Given the description of an element on the screen output the (x, y) to click on. 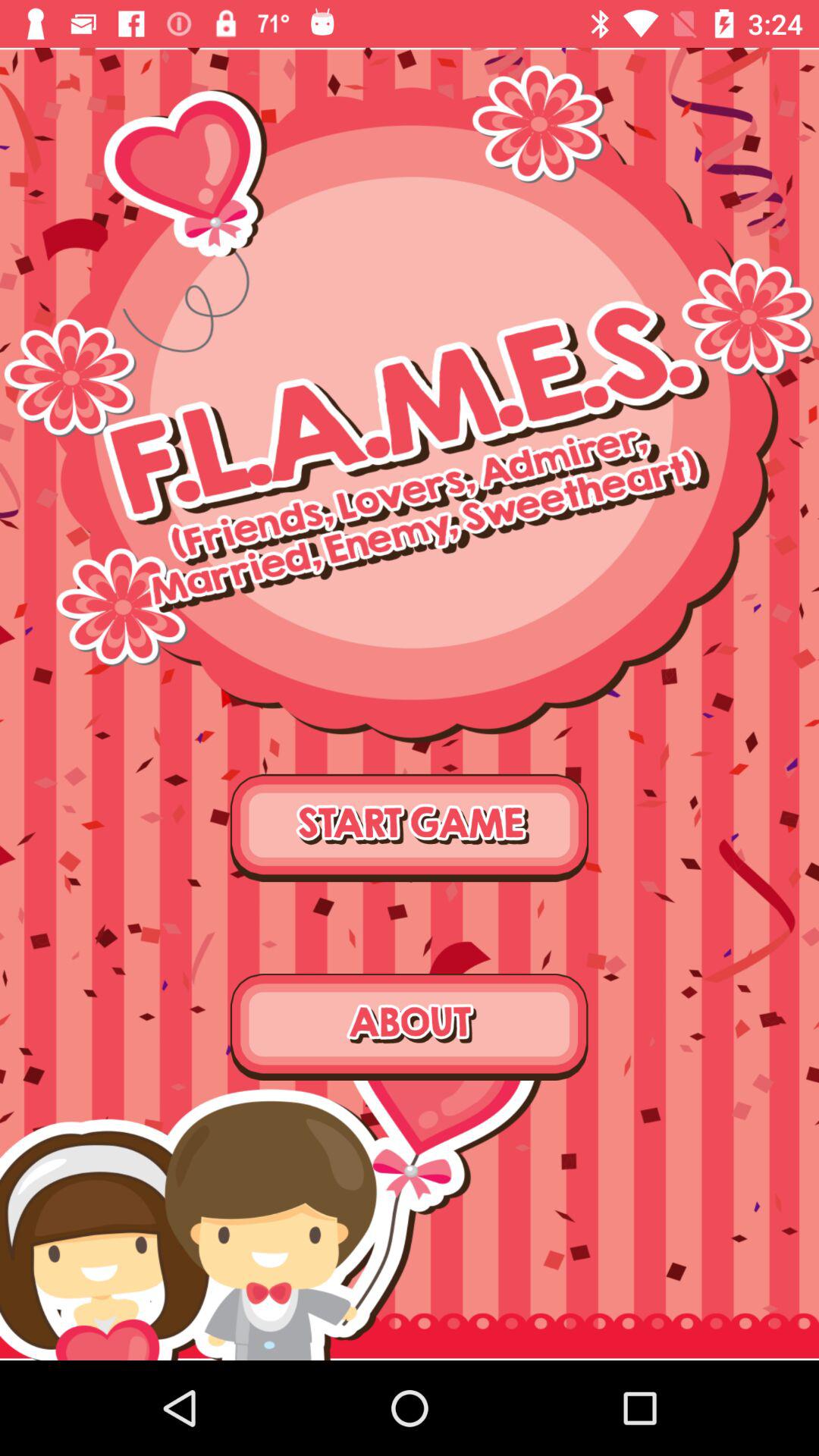
open about (409, 1026)
